Given the description of an element on the screen output the (x, y) to click on. 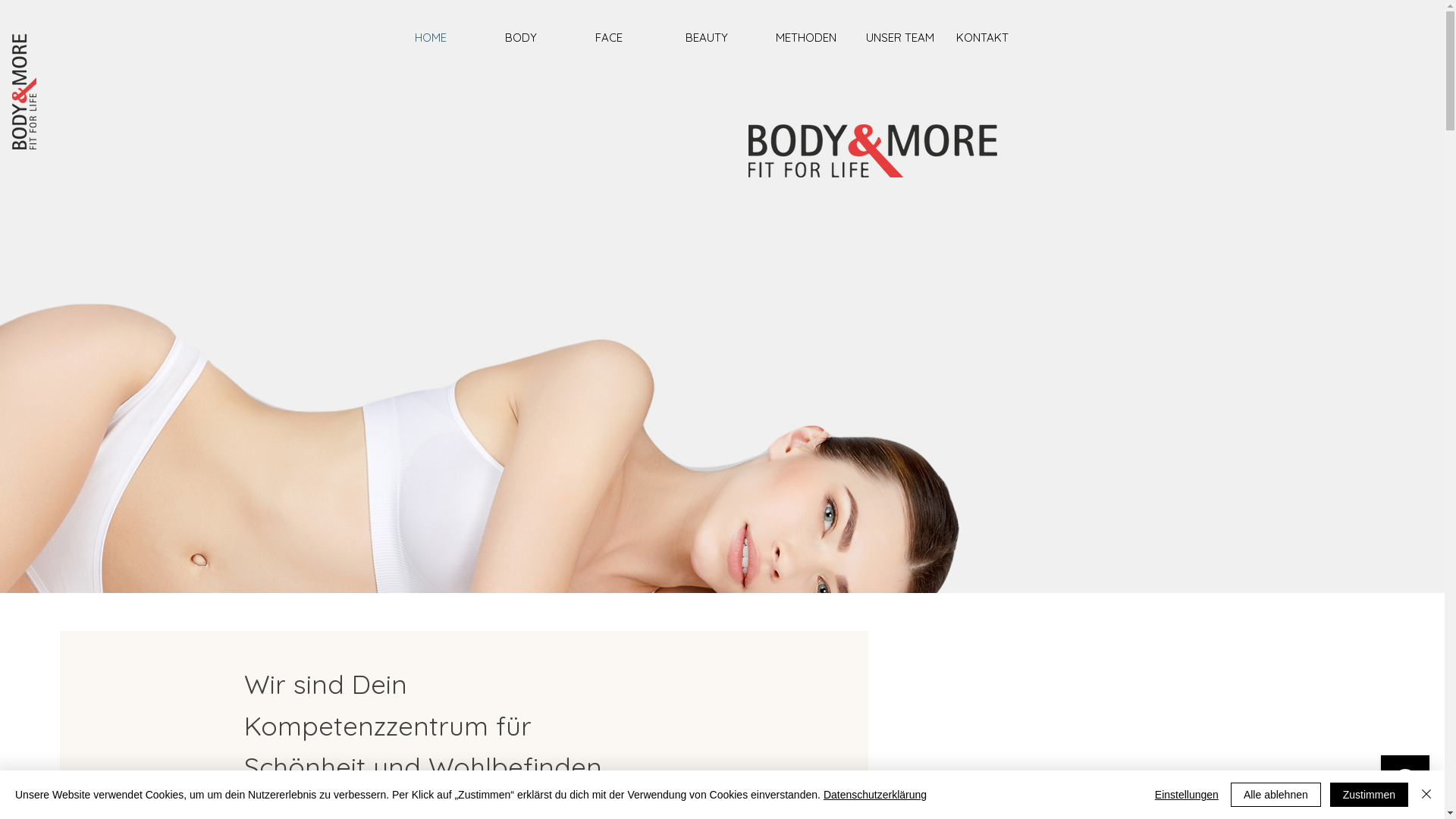
UNSER TEAM Element type: text (903, 37)
BEAUTY Element type: text (722, 37)
Zustimmen Element type: text (1369, 794)
METHODEN Element type: text (812, 37)
Alle ablehnen Element type: text (1275, 794)
KONTAKT Element type: text (992, 37)
HOME Element type: text (451, 37)
FACE Element type: text (631, 37)
BODY Element type: text (542, 37)
